Given the description of an element on the screen output the (x, y) to click on. 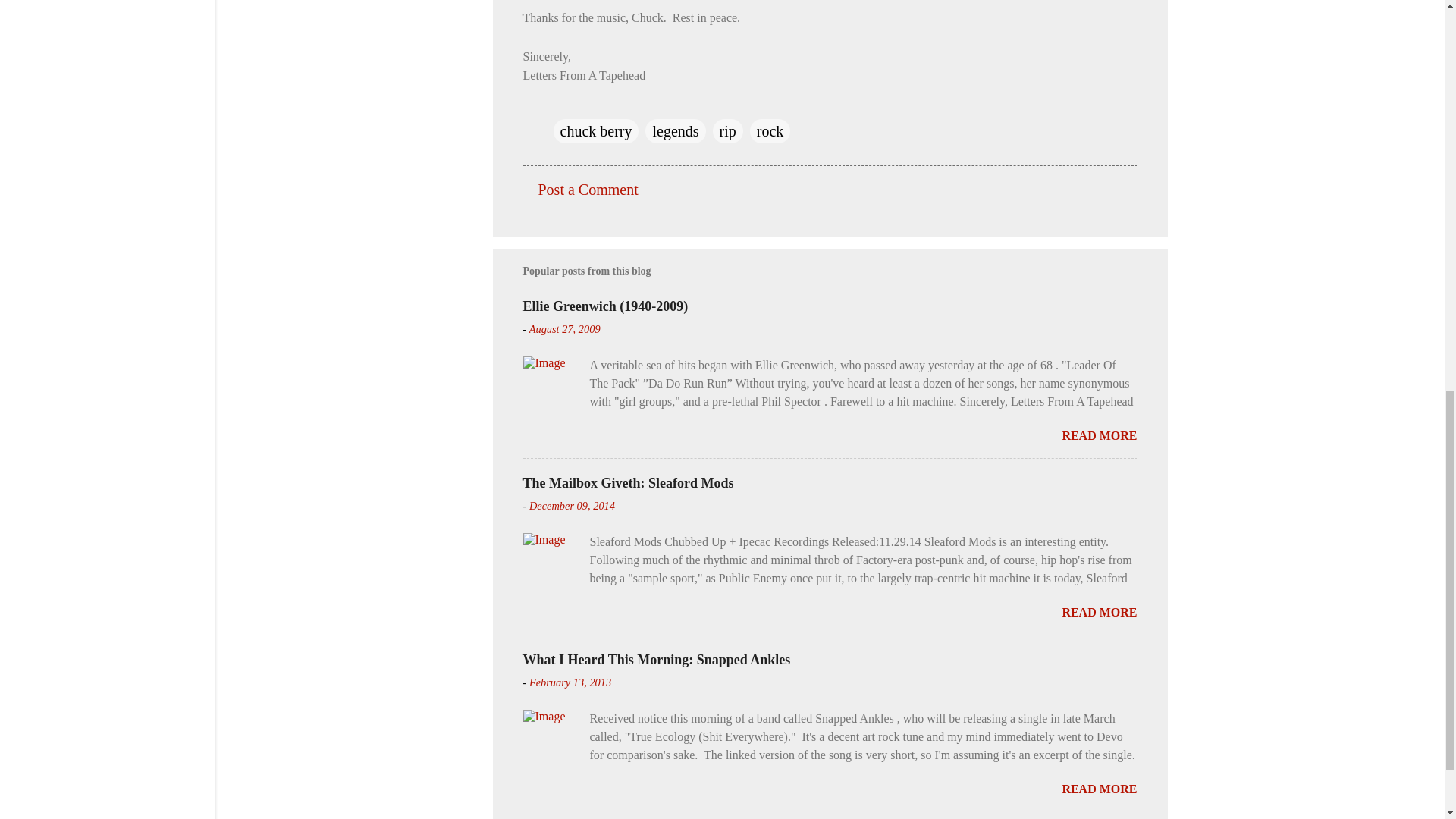
December 09, 2014 (571, 505)
The Mailbox Giveth: Sleaford Mods (627, 482)
February 13, 2013 (570, 682)
legends (674, 130)
Post a Comment (588, 189)
August 27, 2009 (564, 328)
READ MORE (1099, 788)
rock (769, 130)
READ MORE (1099, 435)
chuck berry (596, 130)
rip (727, 130)
permanent link (564, 328)
READ MORE (1099, 612)
What I Heard This Morning: Snapped Ankles (656, 659)
